Given the description of an element on the screen output the (x, y) to click on. 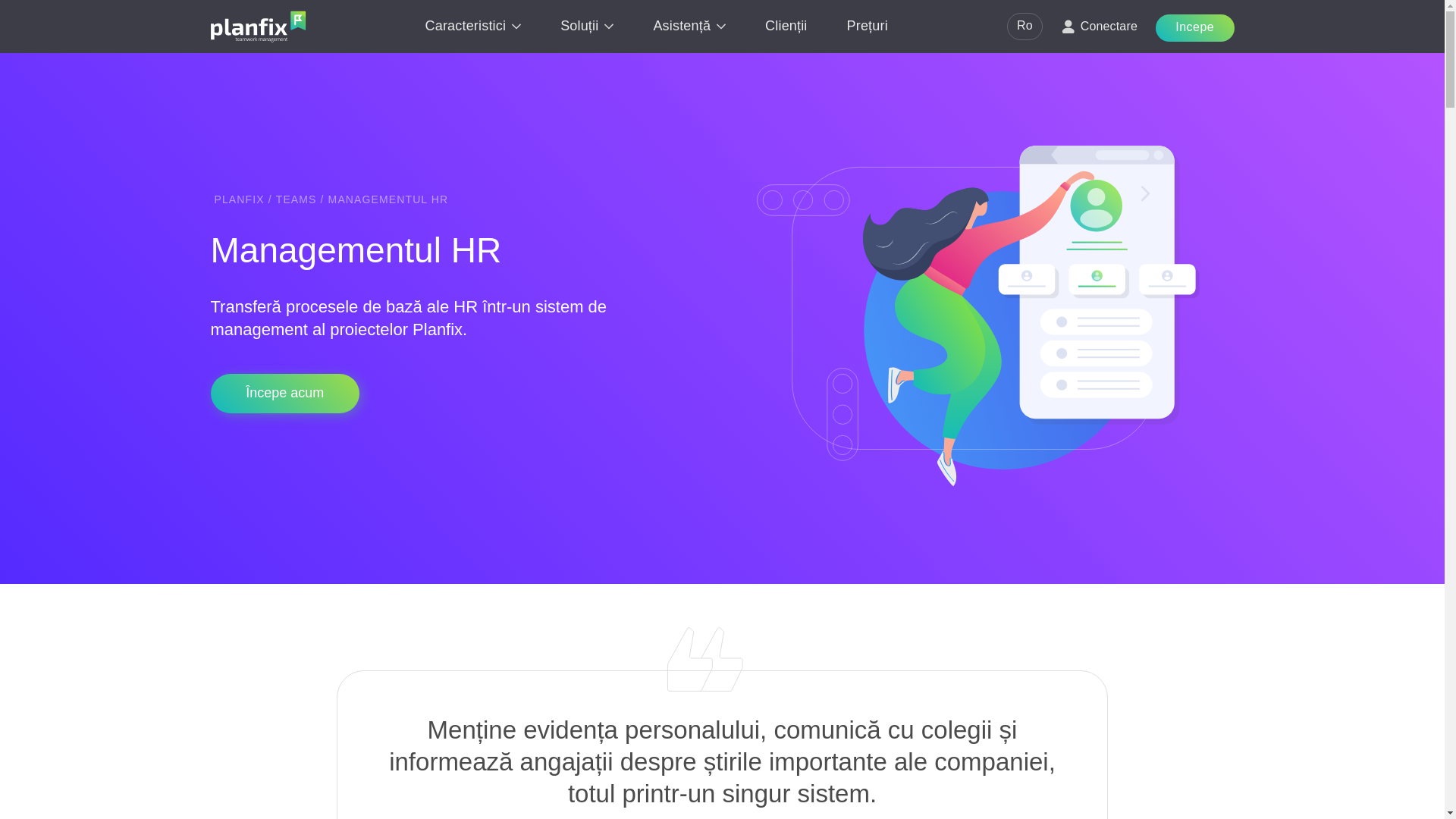
Sign up (285, 392)
